Given the description of an element on the screen output the (x, y) to click on. 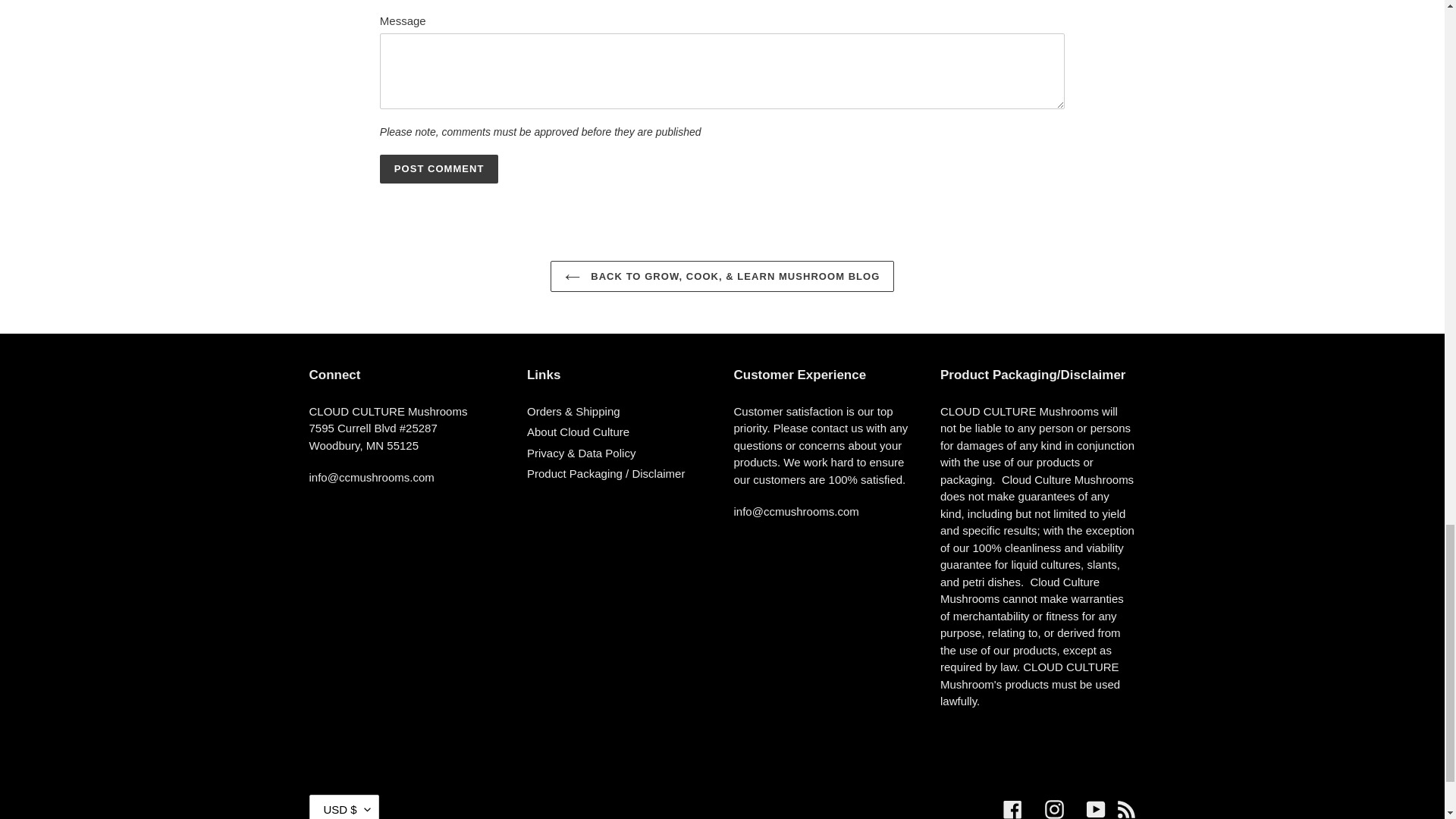
Post comment (439, 168)
